Given the description of an element on the screen output the (x, y) to click on. 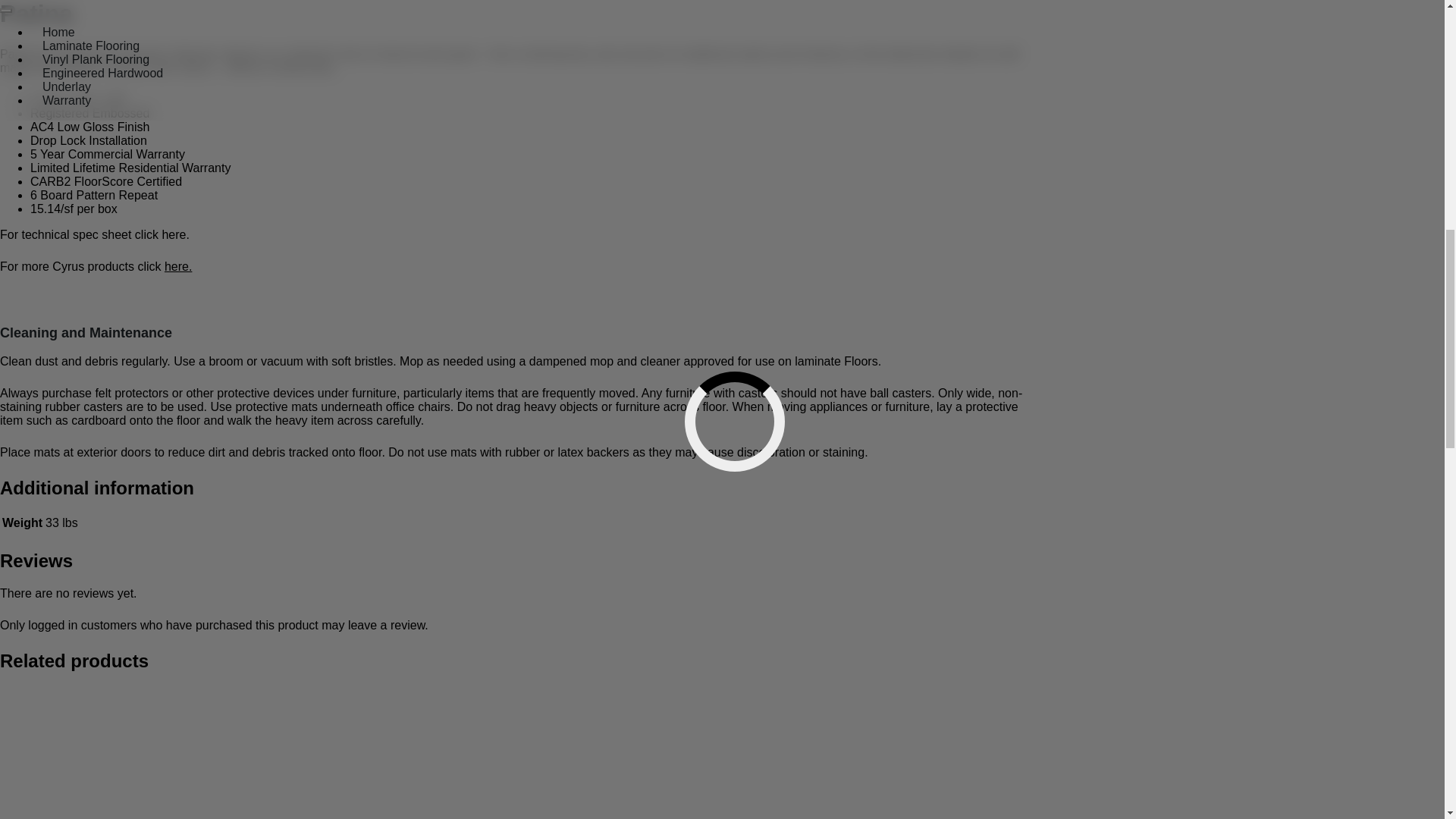
here. (178, 266)
